Given the description of an element on the screen output the (x, y) to click on. 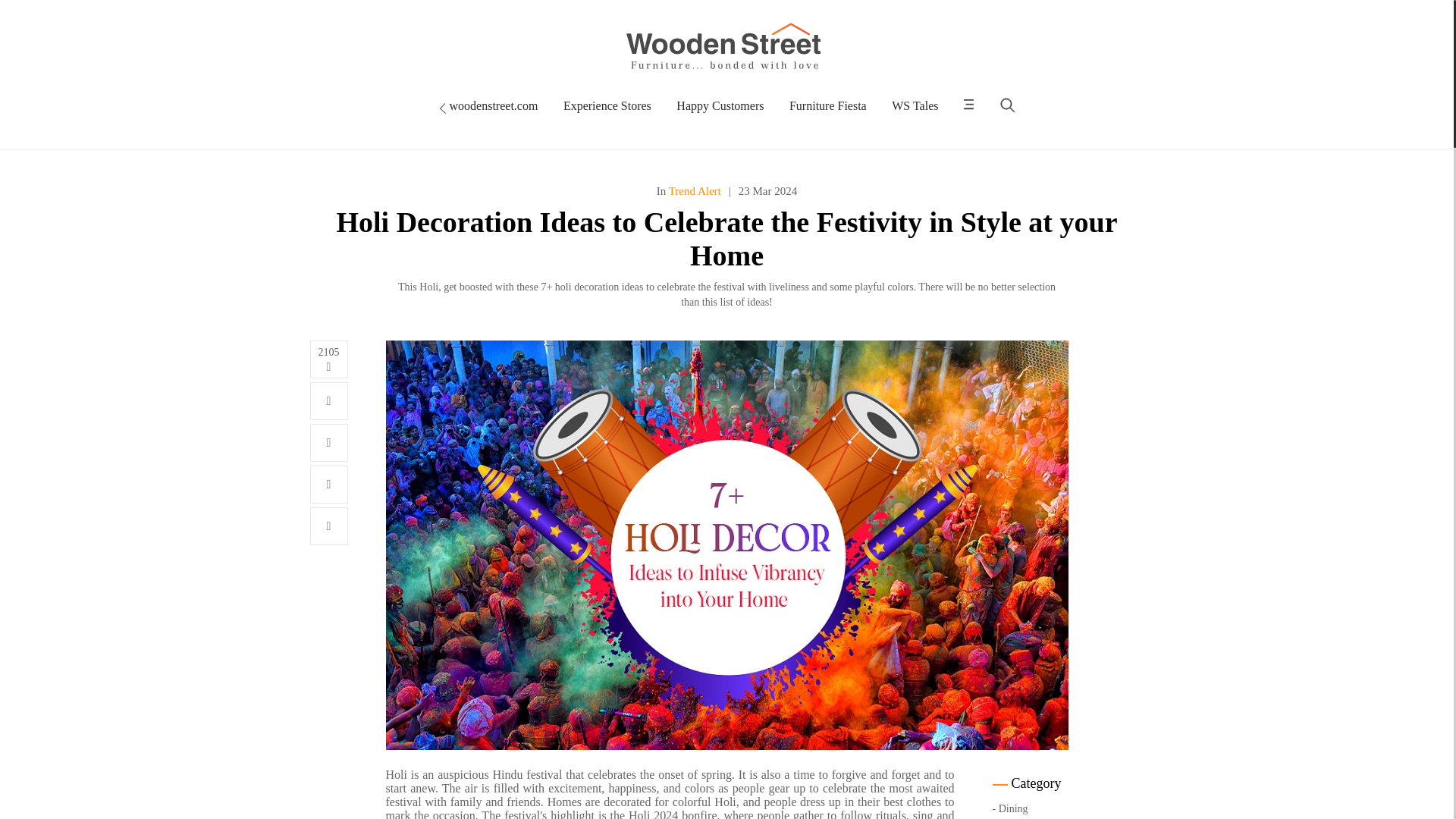
Happy Customers (719, 105)
Trend Alert (692, 191)
Furniture Fiesta (827, 105)
woodenstreet.com (488, 105)
Experience Stores (606, 105)
WS Tales (914, 105)
